Given the description of an element on the screen output the (x, y) to click on. 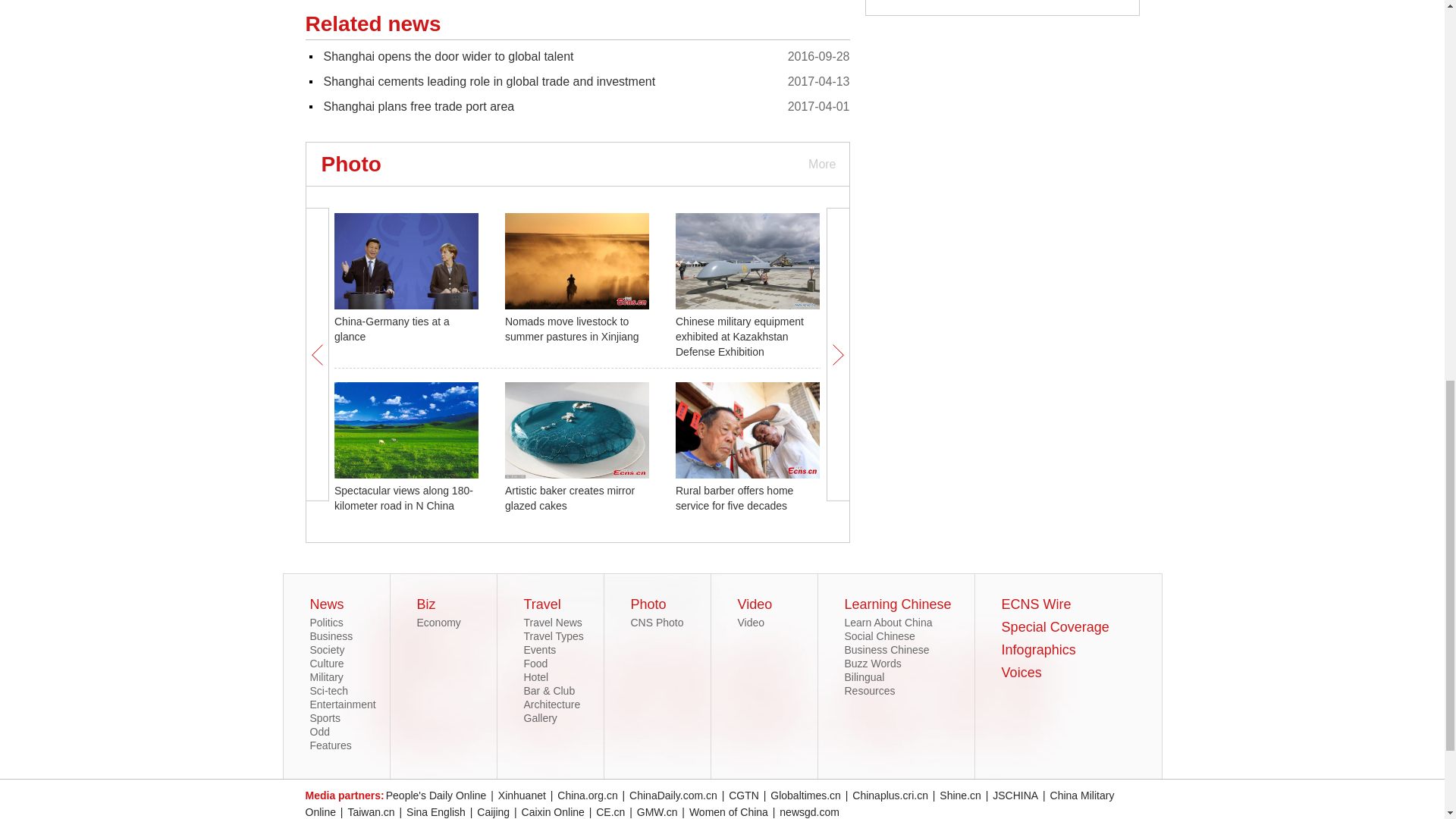
Spectacular views along 180-kilometer road in N China (403, 497)
Nomads move livestock to summer pastures in Xinjiang (572, 329)
Shanghai plans free trade port area (418, 106)
Artistic baker creates mirror glazed cakes (569, 497)
Shanghai opens the door wider to global talent (448, 56)
Shanghai cements leading role in global trade and investment (489, 81)
China-Germany ties at a glance (391, 329)
